Given the description of an element on the screen output the (x, y) to click on. 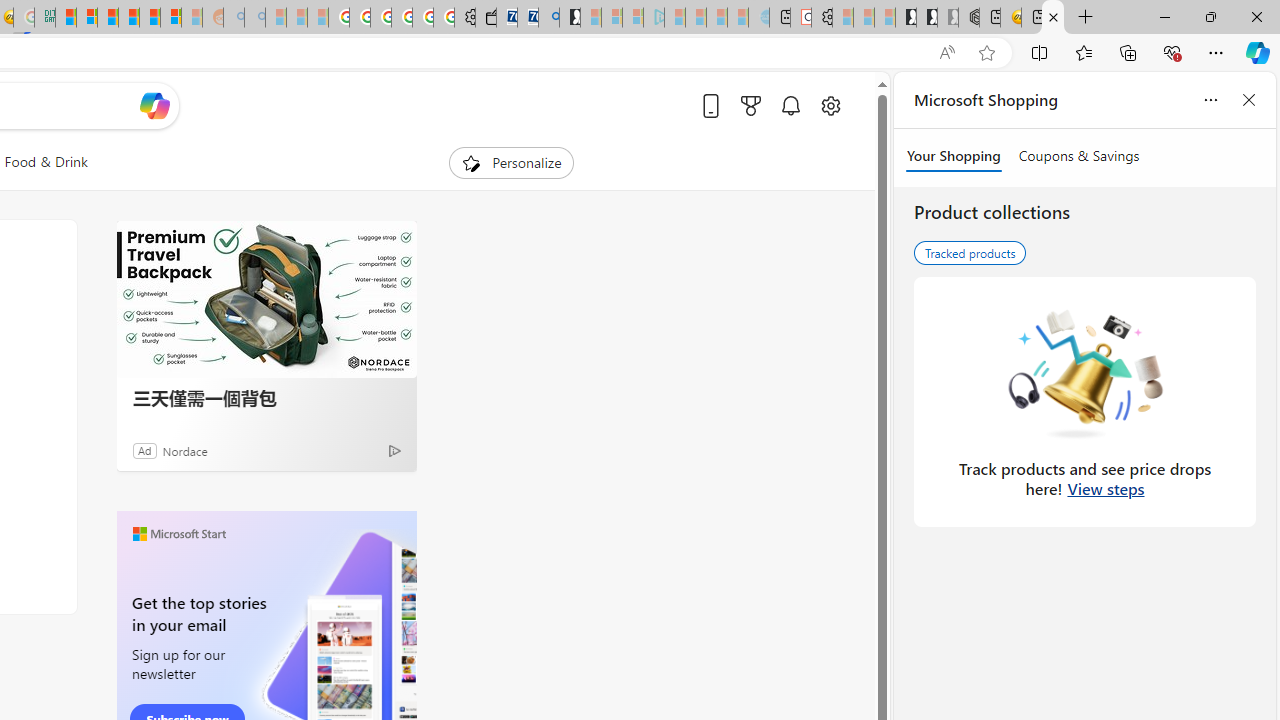
Expert Portfolios (129, 17)
Notifications (790, 105)
Microsoft account | Privacy - Sleeping (632, 17)
